Given the description of an element on the screen output the (x, y) to click on. 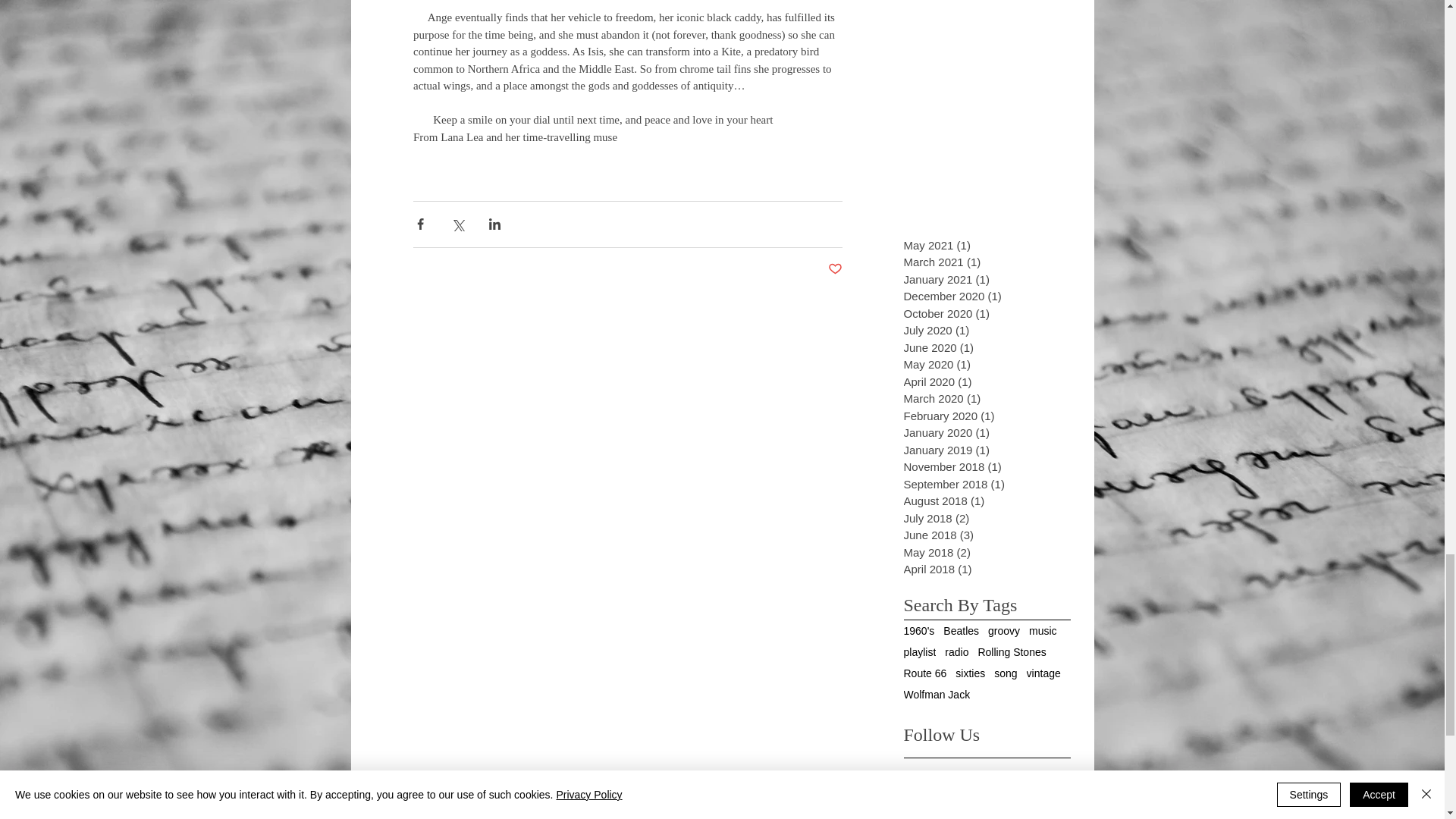
Post not marked as liked (835, 269)
